Given the description of an element on the screen output the (x, y) to click on. 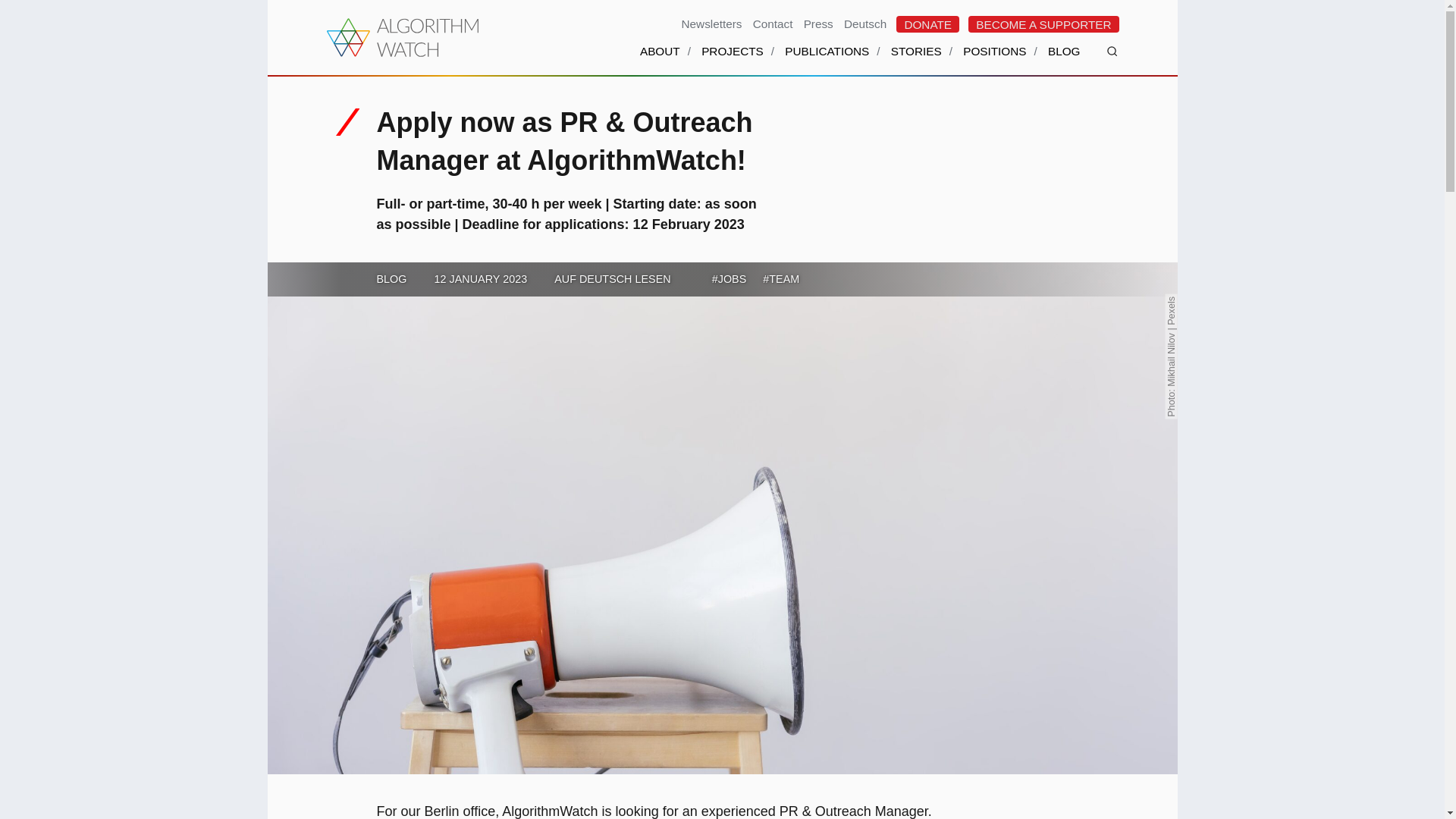
PUBLICATIONS (826, 60)
ABOUT (659, 60)
BECOME A SUPPORTER (1043, 23)
AUF DEUTSCH LESEN (612, 278)
Deutsch (864, 23)
BLOG (1064, 60)
STORIES (916, 60)
PROJECTS (731, 60)
Press (818, 23)
Newsletters (711, 23)
POSITIONS (994, 60)
BLOG (390, 278)
DONATE (927, 23)
Contact (772, 23)
